Given the description of an element on the screen output the (x, y) to click on. 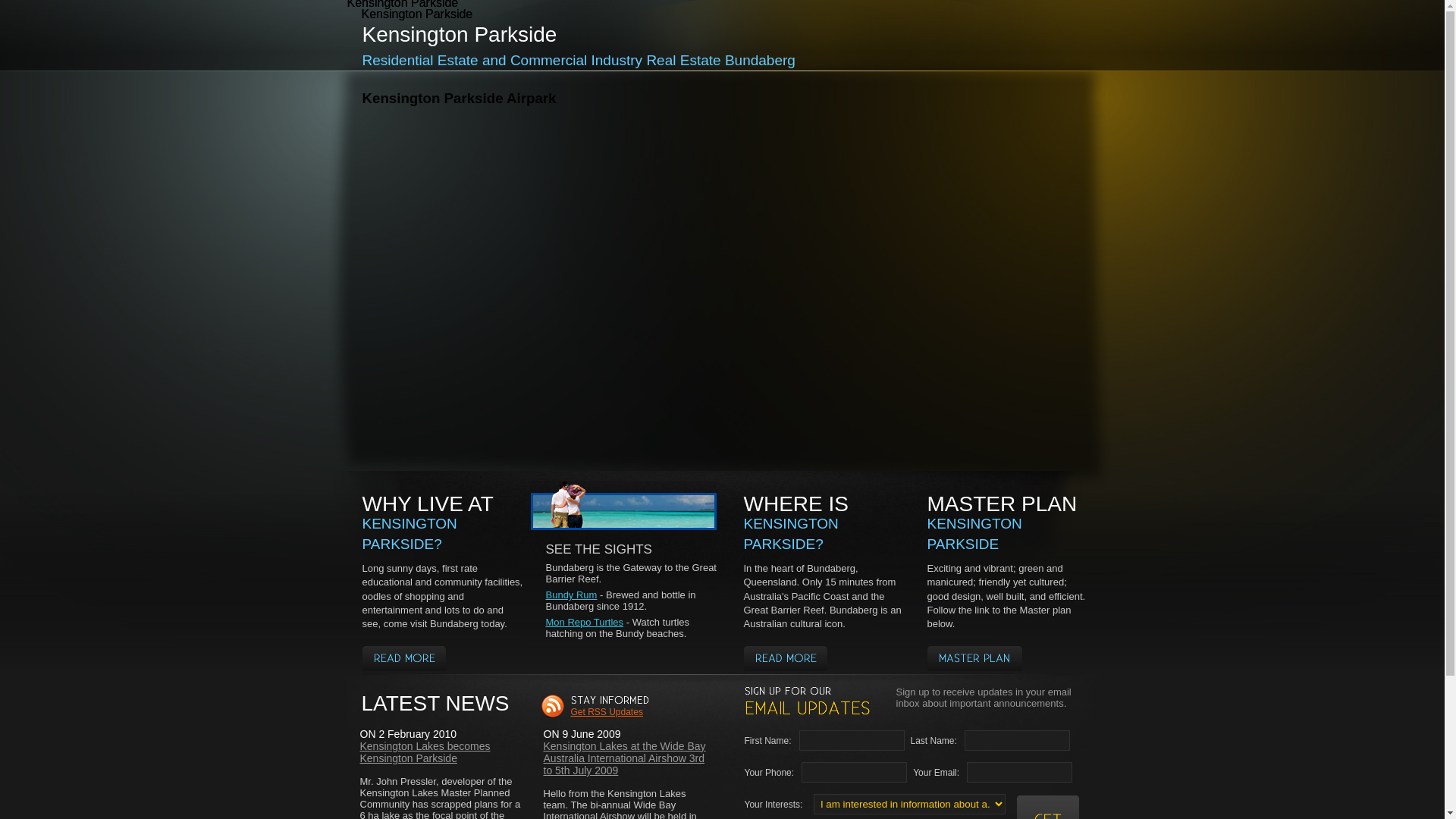
Mon Repo Turtles Element type: text (585, 621)
Bundy Rum Element type: text (571, 594)
Kensington Parkside Master Plan Element type: text (973, 658)
Get RSS Updates Element type: text (606, 711)
Kensington Lakes becomes Kensington Parkside Element type: text (424, 752)
Where is Kensington Parkside? Element type: text (784, 658)
Why live at Kensington Parkside? Element type: text (403, 658)
